Given the description of an element on the screen output the (x, y) to click on. 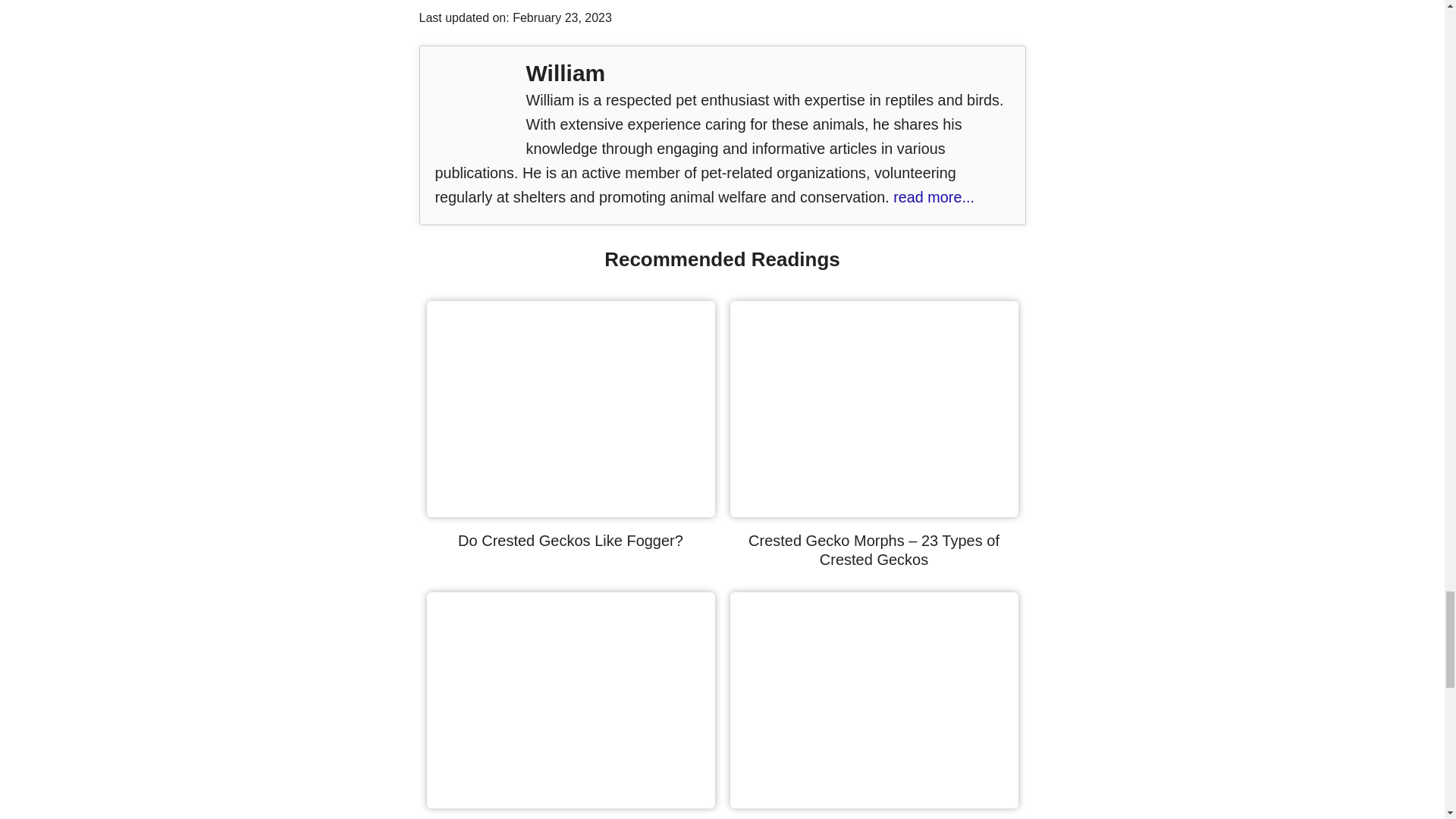
Do Crested Geckos Like Fogger? (570, 511)
Do Crested Geckos Like Fogger? (570, 540)
What Do Baby Crested Geckos Eat? (873, 802)
